Given the description of an element on the screen output the (x, y) to click on. 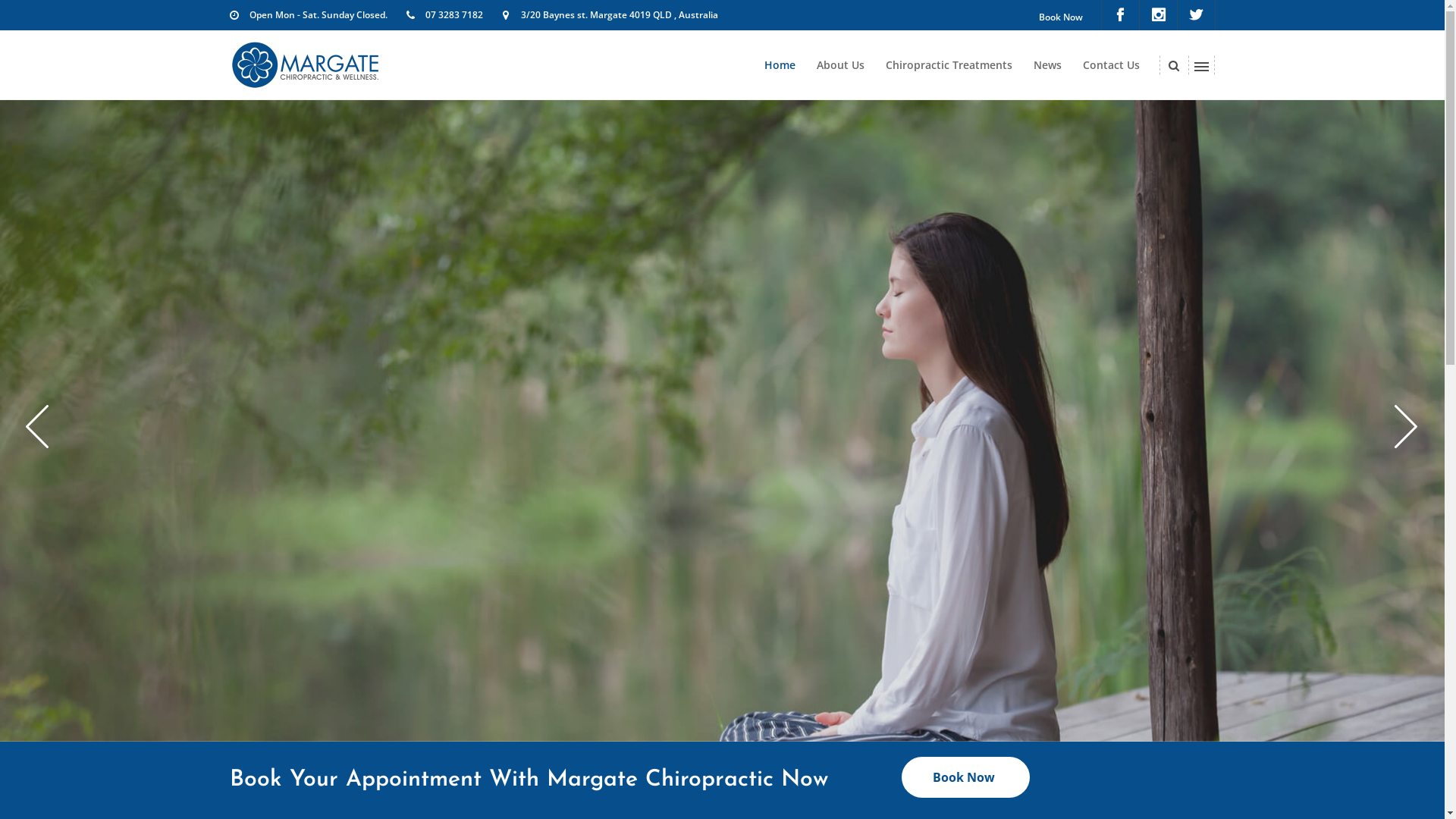
Contact Us Element type: text (1111, 64)
Book Now Element type: text (965, 776)
About Us Element type: text (839, 64)
Home Element type: text (779, 64)
News Element type: text (1046, 64)
Chiropractic Treatments Element type: text (948, 64)
Search Element type: text (1143, 123)
Search Element type: text (1145, 24)
07 3283 7182 Element type: text (453, 14)
Book Now Element type: text (1060, 16)
